Given the description of an element on the screen output the (x, y) to click on. 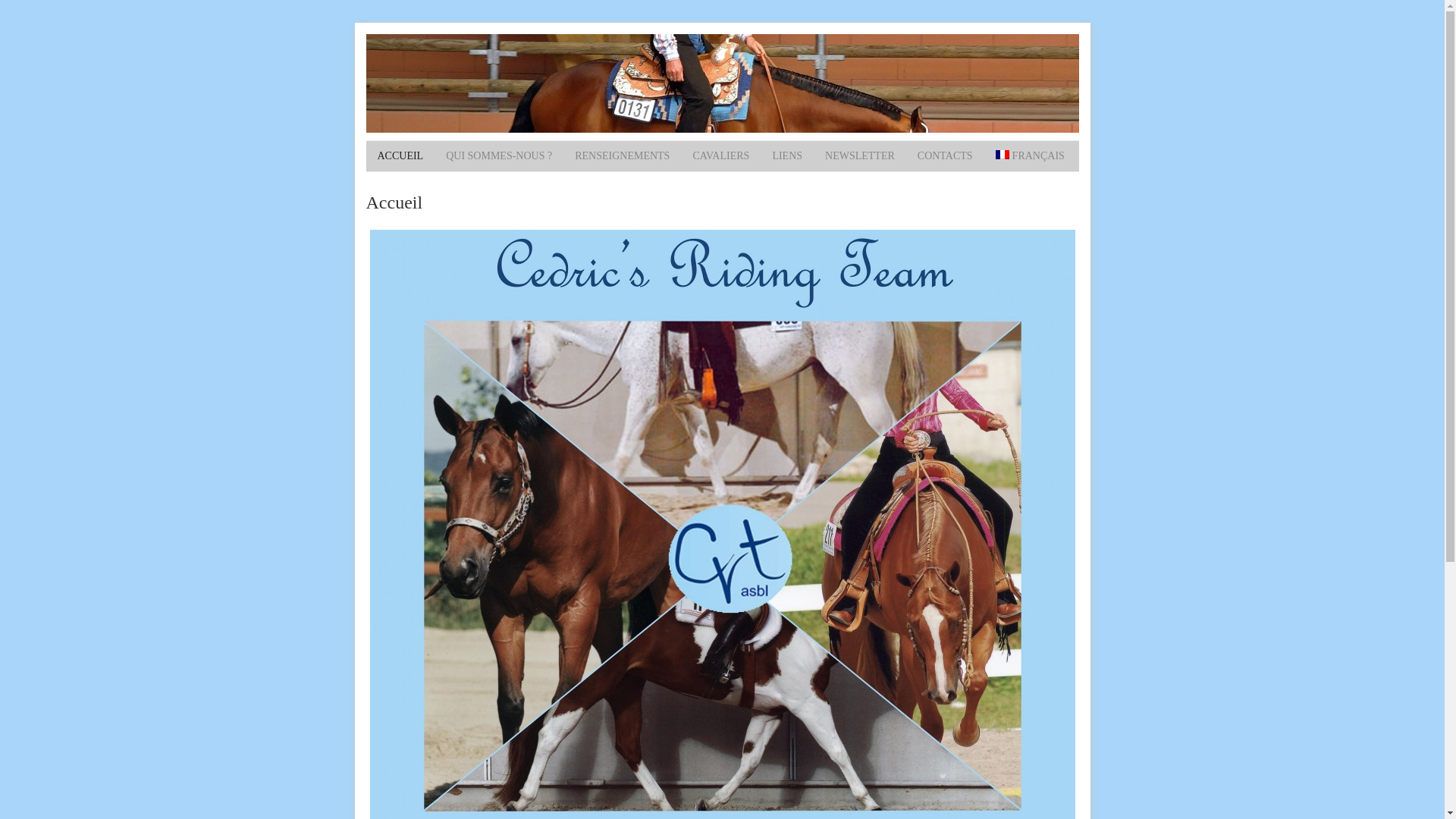
ACCUEIL Element type: text (399, 156)
RENSEIGNEMENTS Element type: text (621, 156)
CONTACTS Element type: text (945, 156)
NEWSLETTER Element type: text (859, 156)
CAVALIERS Element type: text (720, 156)
LIENS Element type: text (786, 156)
QUI SOMMES-NOUS ? Element type: text (498, 156)
